Given the description of an element on the screen output the (x, y) to click on. 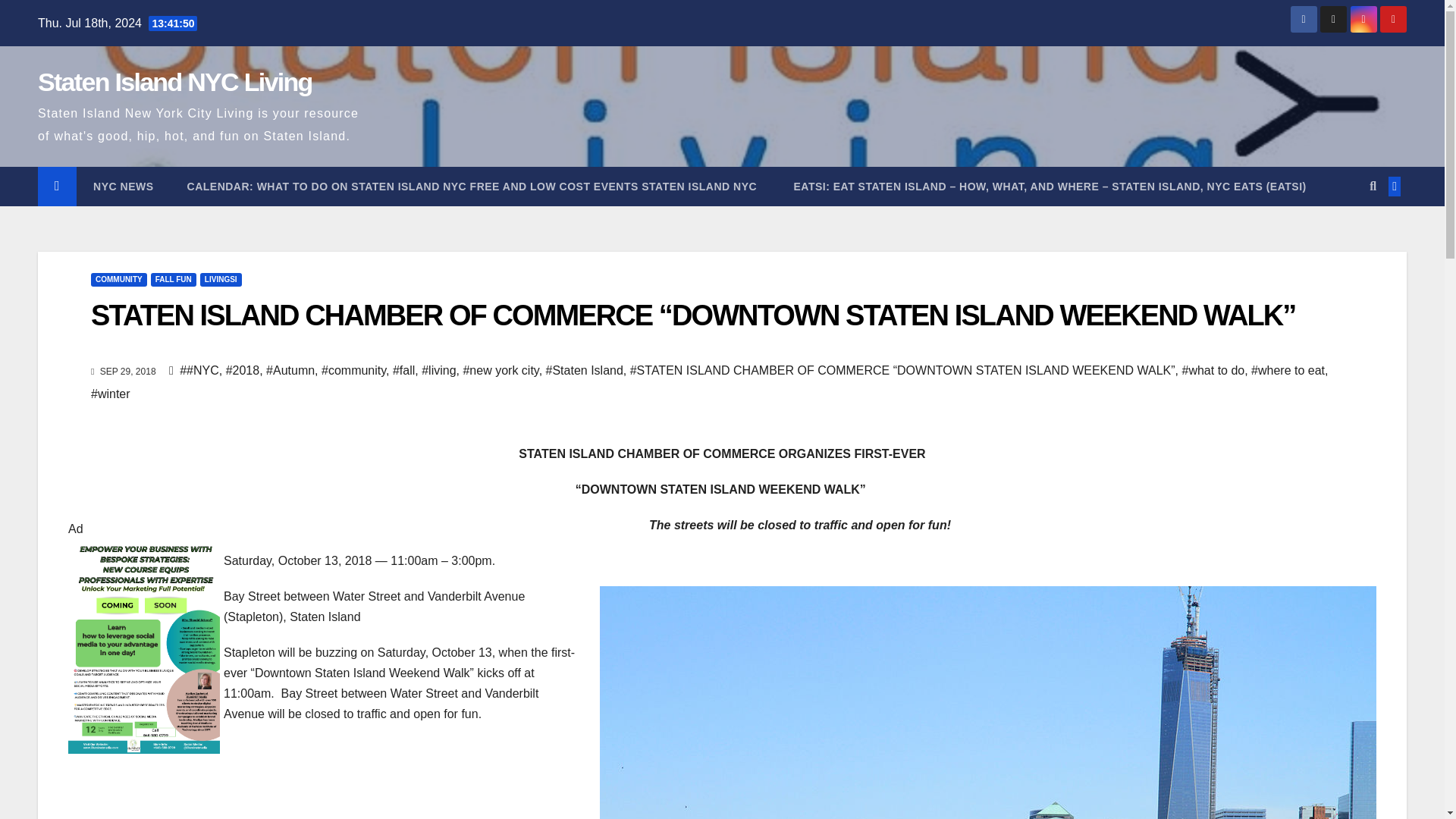
LIVINGSI (220, 279)
NYC NEWS (123, 186)
FALL FUN (173, 279)
Staten Island NYC Living (175, 81)
COMMUNITY (118, 279)
NYC NEWS (123, 186)
